Given the description of an element on the screen output the (x, y) to click on. 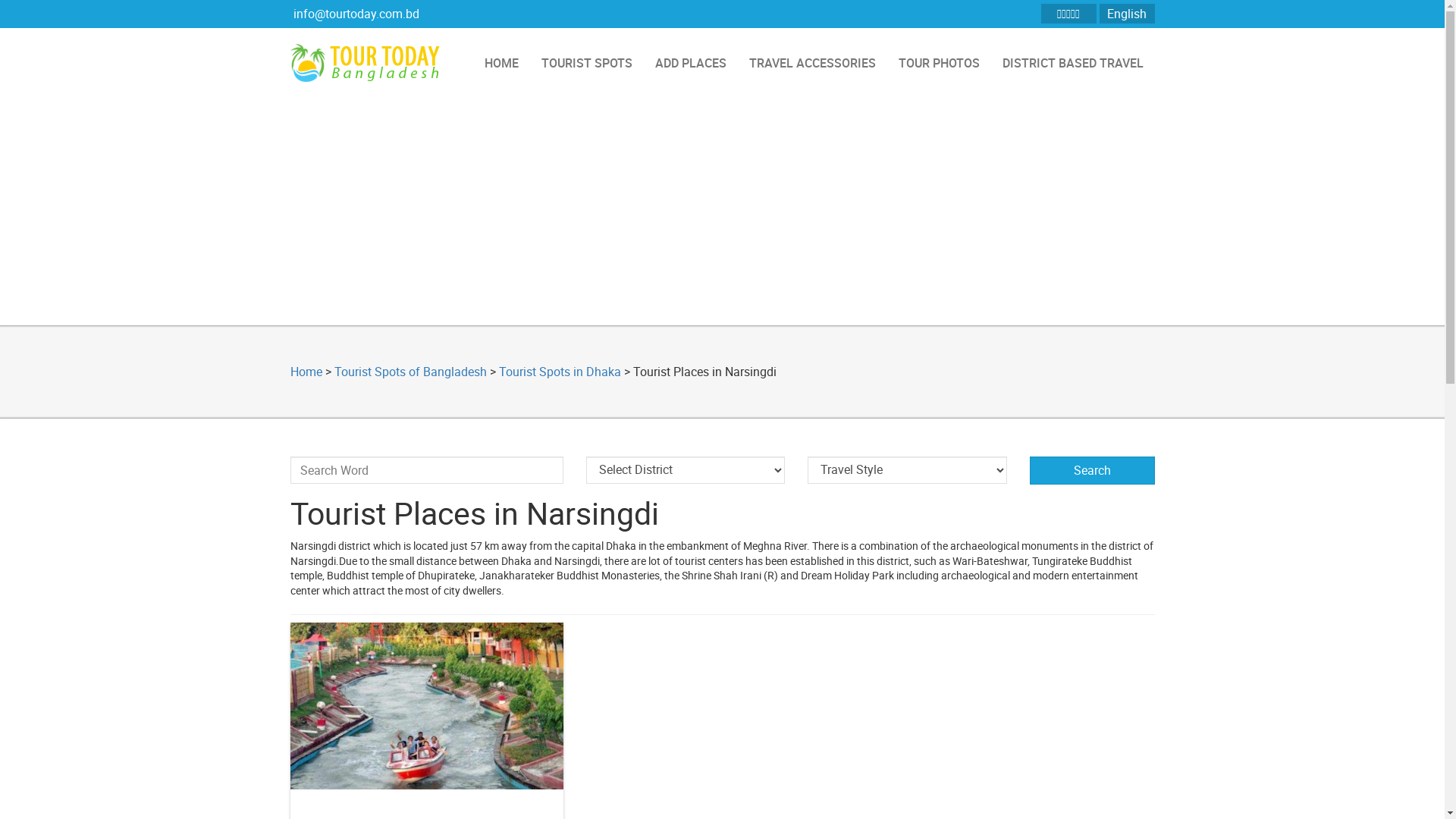
TOURIST SPOTS Element type: text (586, 62)
Search Element type: text (1091, 470)
ADD PLACES Element type: text (690, 62)
Tour Today BD is the name of Bangladesh Tour and Travel Element type: hover (368, 62)
TRAVEL ACCESSORIES Element type: text (811, 62)
Advertisement Element type: hover (721, 211)
English Element type: text (1126, 13)
DISTRICT BASED TRAVEL Element type: text (1072, 62)
Tourist Spots of Bangladesh Element type: text (409, 371)
Tourist Spots in Dhaka Element type: text (559, 371)
HOME Element type: text (501, 62)
TOUR PHOTOS Element type: text (939, 62)
Home Element type: text (305, 371)
